Given the description of an element on the screen output the (x, y) to click on. 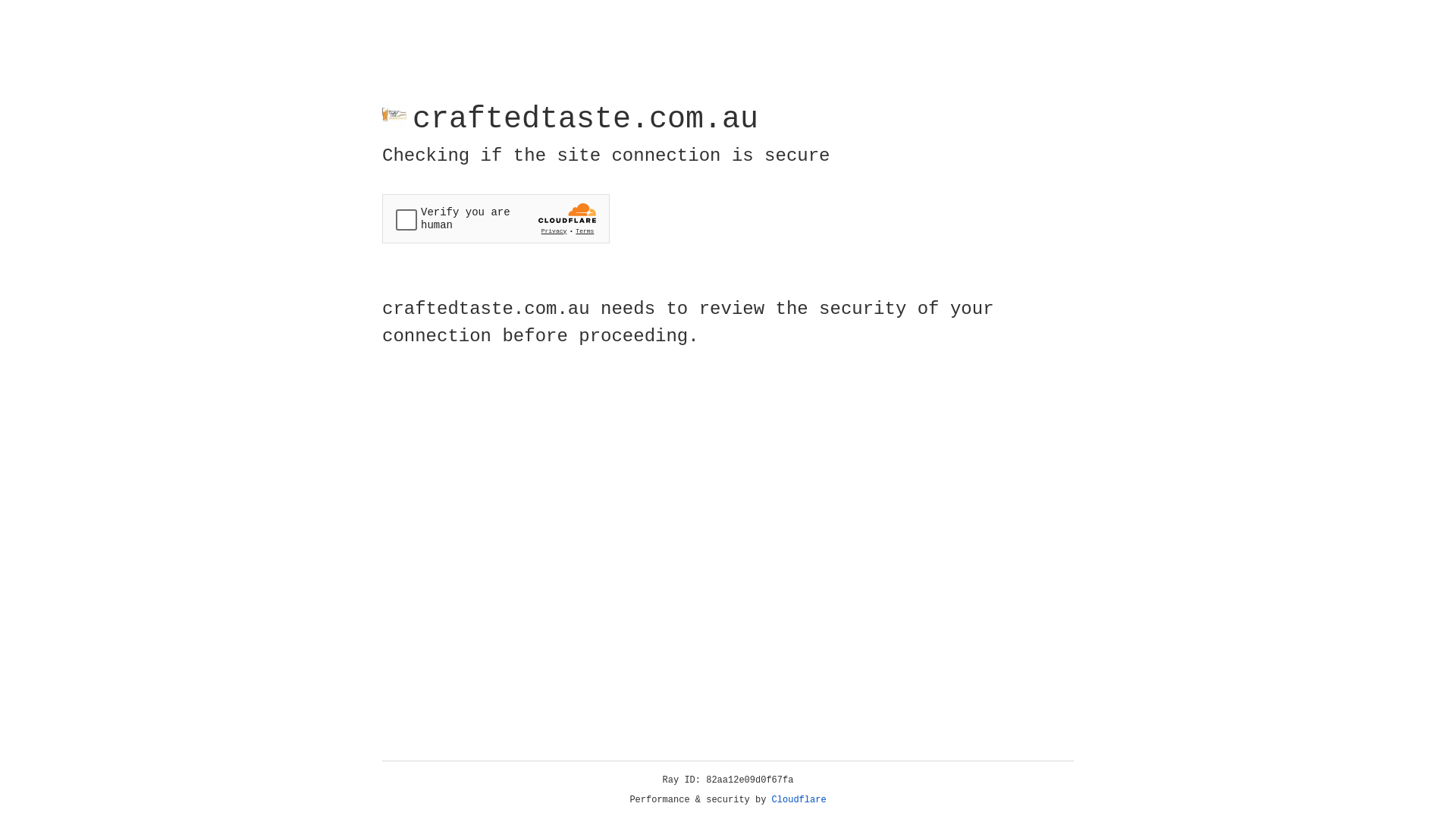
Widget containing a Cloudflare security challenge Element type: hover (495, 218)
Cloudflare Element type: text (798, 799)
